Given the description of an element on the screen output the (x, y) to click on. 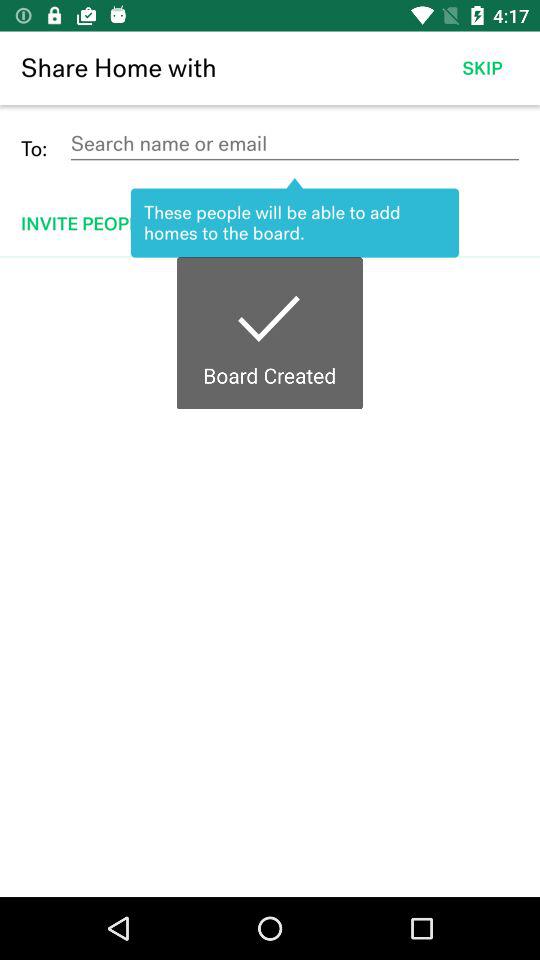
mail textbox (294, 144)
